Given the description of an element on the screen output the (x, y) to click on. 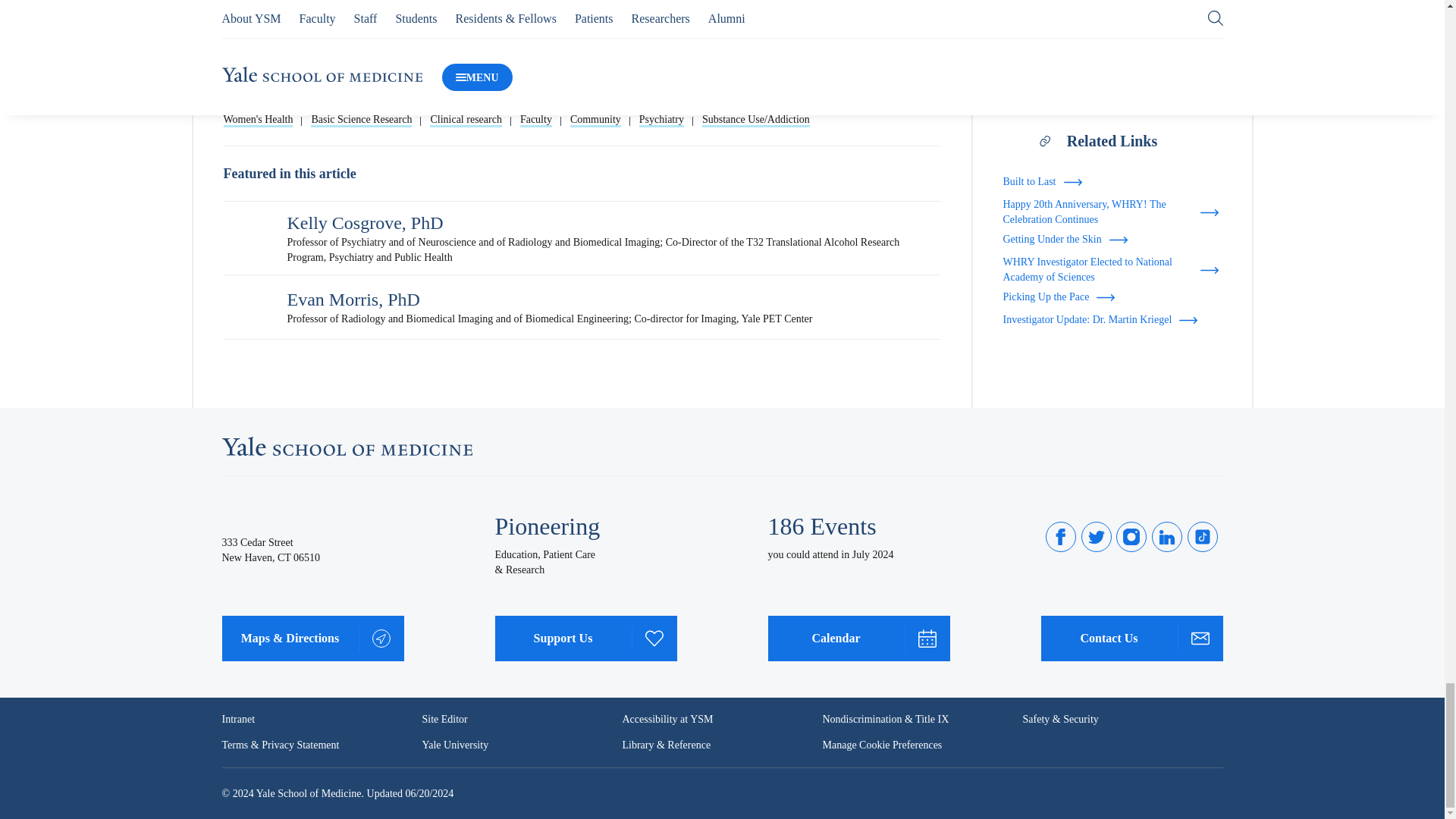
Yale School of Medicine (346, 445)
